Given the description of an element on the screen output the (x, y) to click on. 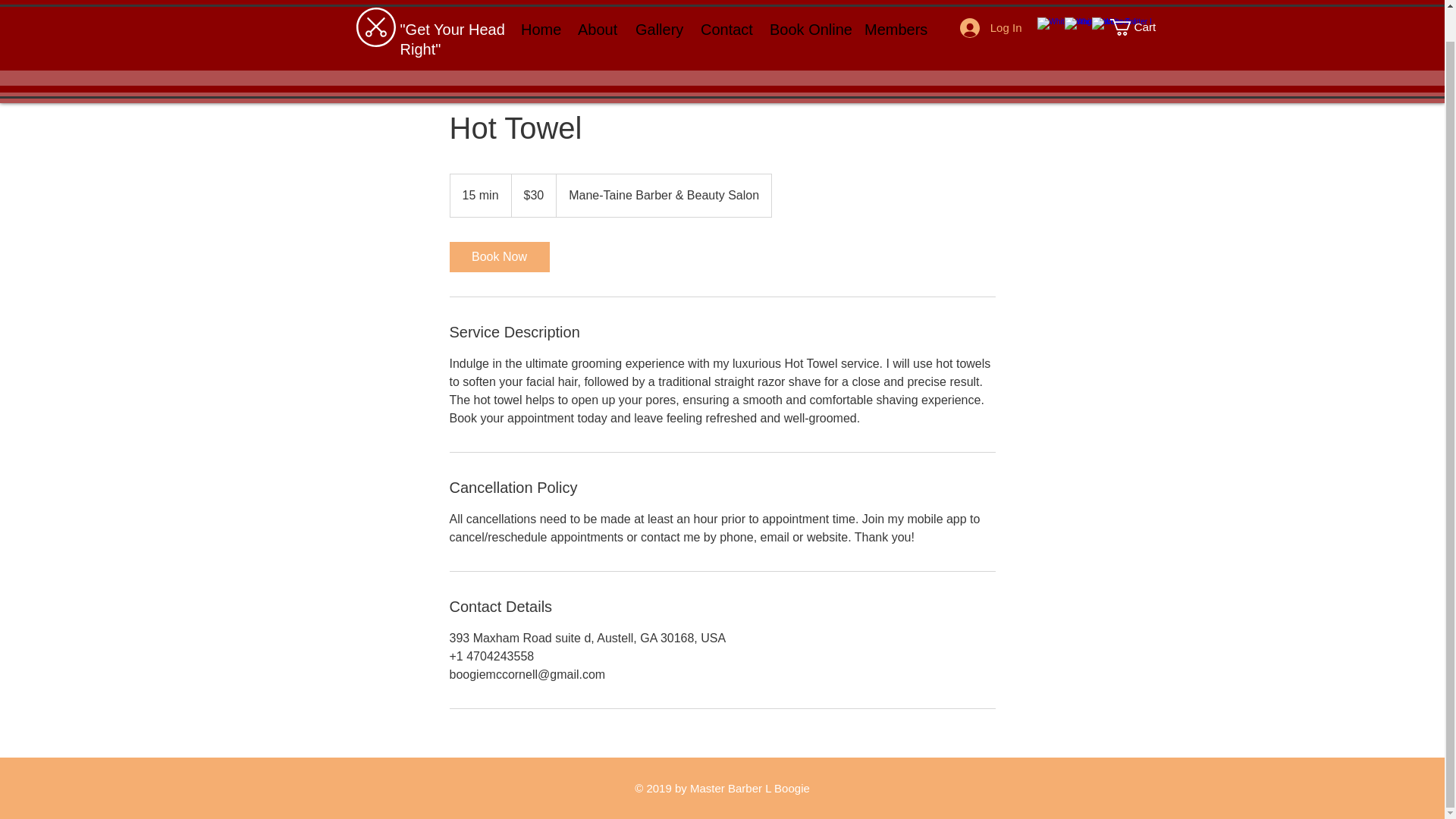
Cart (1140, 1)
Log In (990, 4)
Book Now (498, 256)
"Get Your Head Right" (452, 12)
Contact (723, 7)
About (595, 7)
Book Online (805, 7)
Home (537, 7)
Cart (1140, 1)
Members (893, 7)
